Given the description of an element on the screen output the (x, y) to click on. 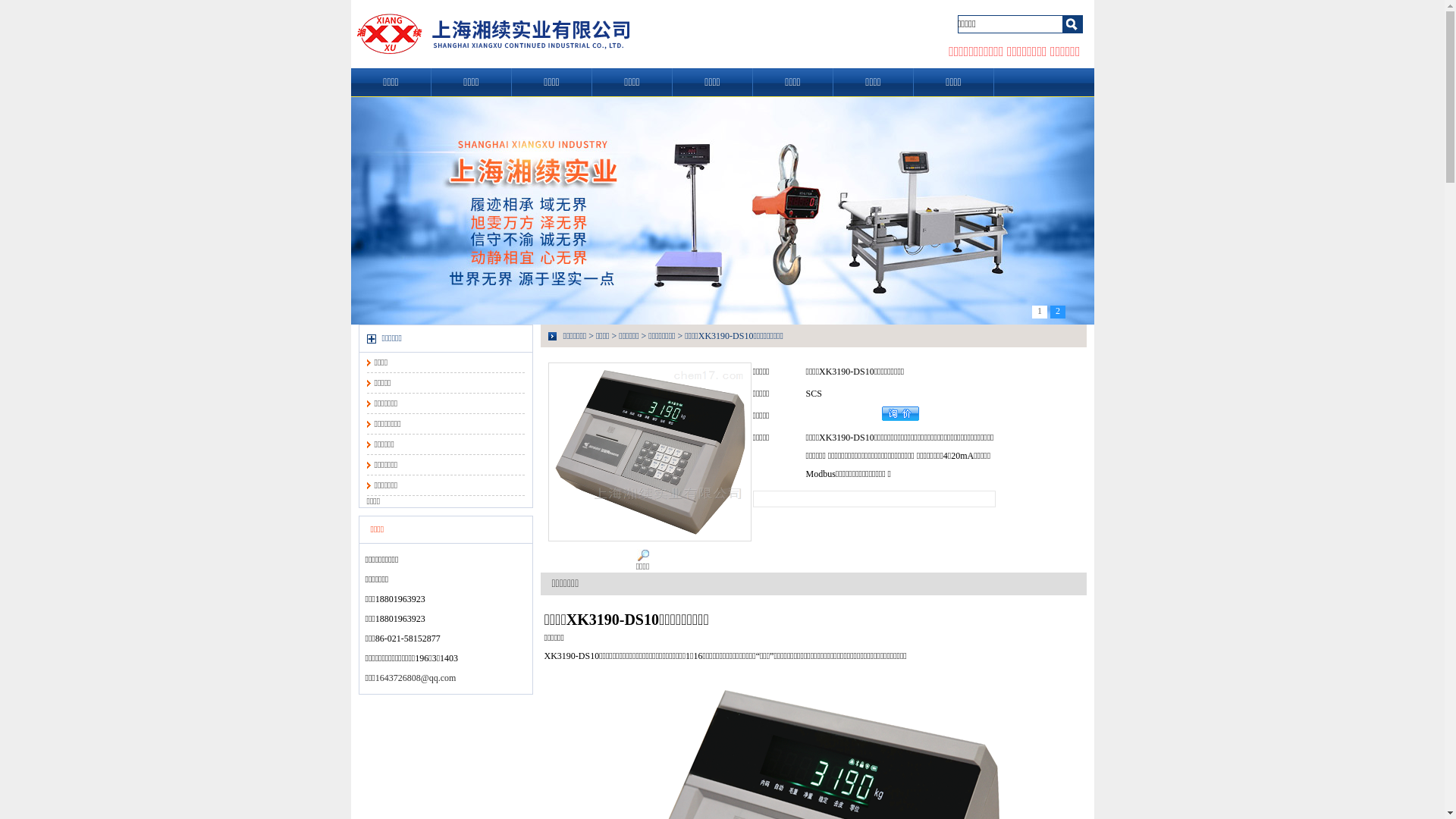
1643726808@qq.com Element type: text (415, 677)
